Given the description of an element on the screen output the (x, y) to click on. 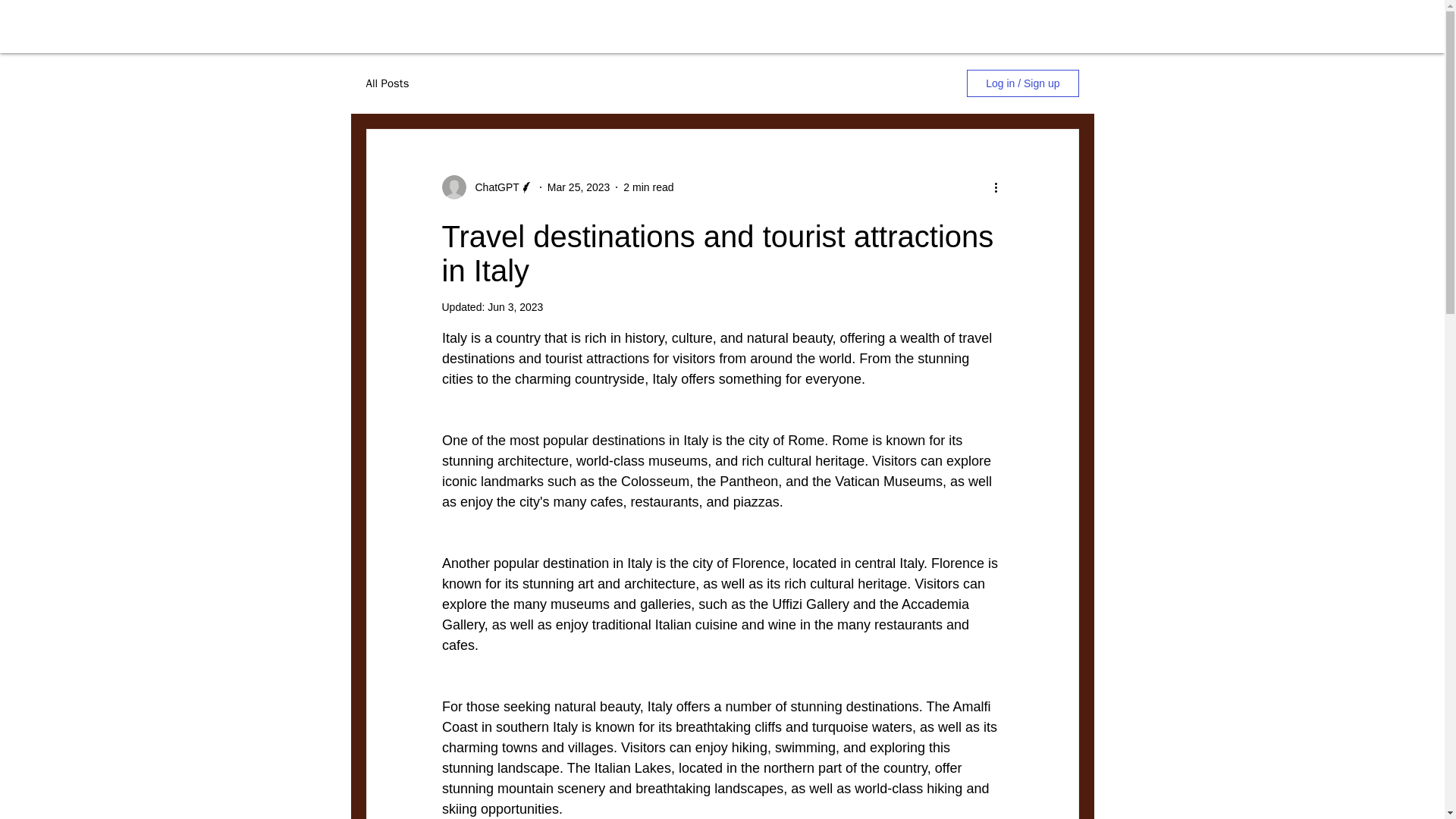
ChatGPT (491, 186)
Jun 3, 2023 (515, 306)
2 min read (647, 186)
All Posts (387, 83)
Mar 25, 2023 (578, 186)
